Given the description of an element on the screen output the (x, y) to click on. 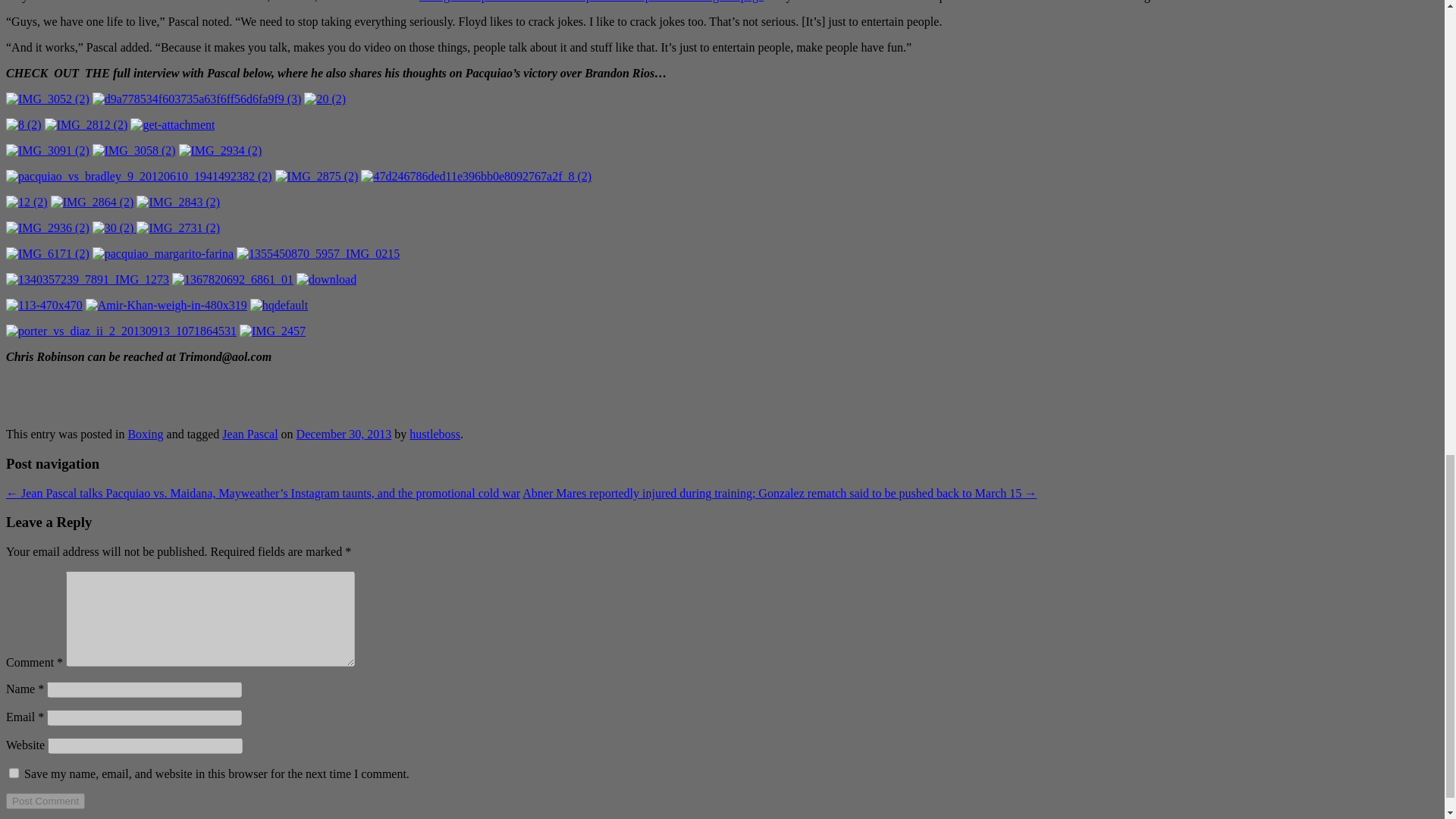
View all posts by hustleboss (434, 433)
yes (13, 773)
Post Comment (44, 801)
12:36 (344, 433)
